Given the description of an element on the screen output the (x, y) to click on. 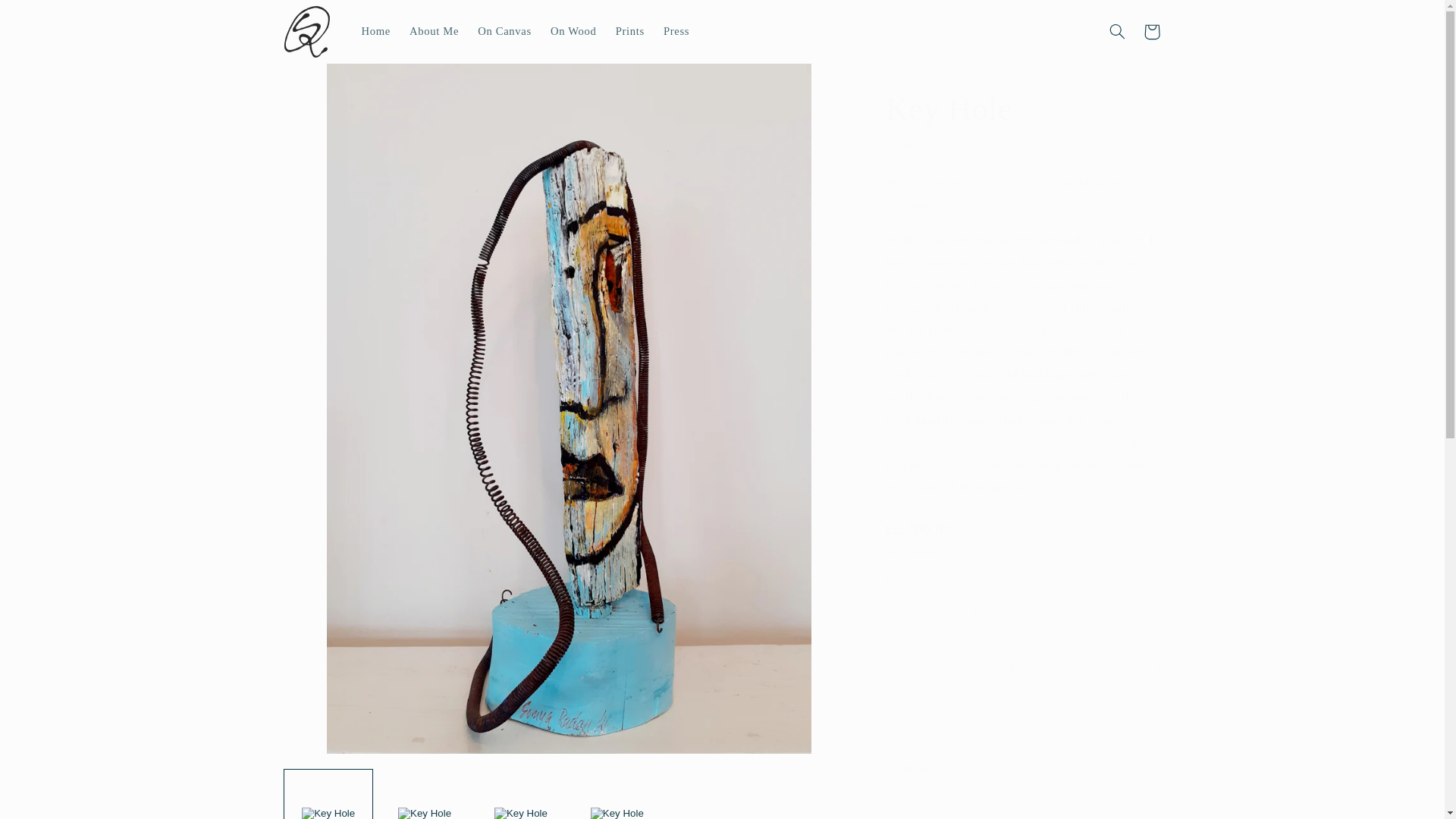
1 (939, 610)
About Me (432, 31)
Decrease quantity for Key Hole (903, 610)
Press (675, 31)
Cart (1151, 31)
On Wood (572, 31)
Prints (629, 31)
On Canvas (504, 31)
Home (376, 31)
Skip to product information (331, 81)
